Given the description of an element on the screen output the (x, y) to click on. 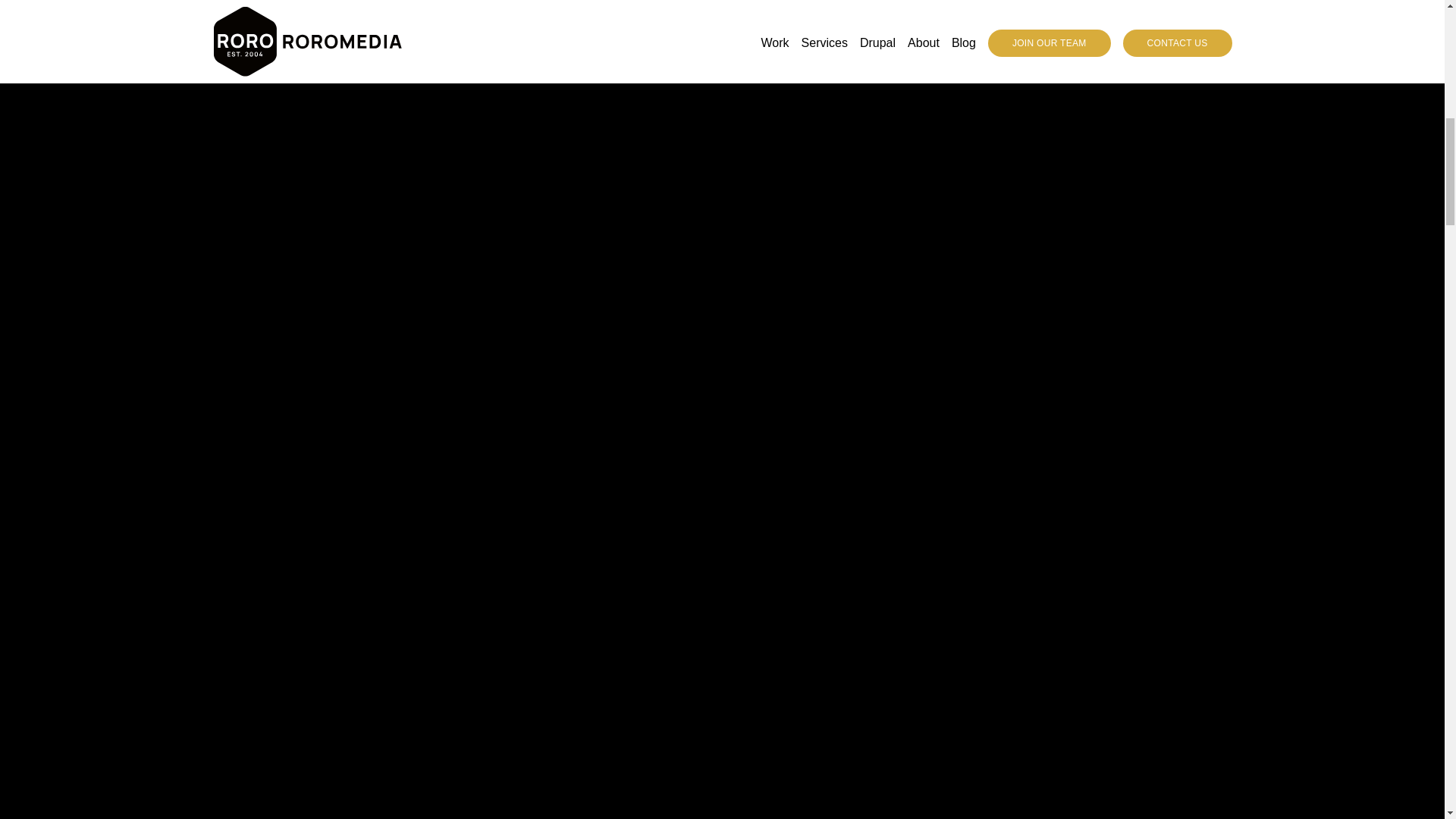
API-DEVELOPMENT (640, 285)
WEB-DEVELOPMENT (515, 285)
DESIGN (417, 285)
